Given the description of an element on the screen output the (x, y) to click on. 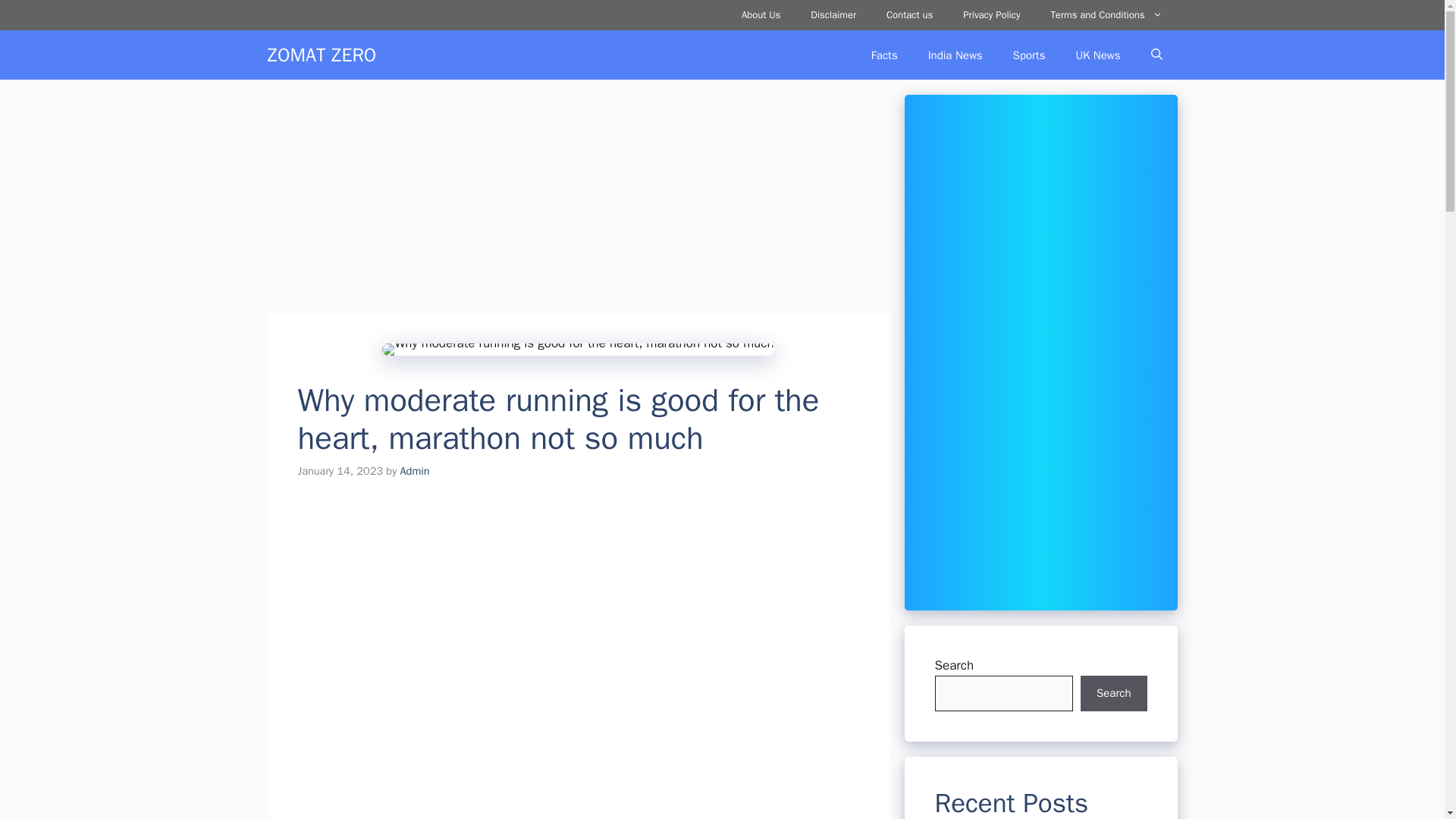
Disclaimer (832, 15)
Admin (414, 470)
View all posts by Admin (414, 470)
Facts (884, 53)
Sports (1029, 53)
UK News (1097, 53)
ZOMAT ZERO (320, 54)
Contact us (908, 15)
About Us (760, 15)
Terms and Conditions (1105, 15)
Advertisement (577, 612)
Privacy Policy (991, 15)
Advertisement (577, 201)
India News (954, 53)
Advertisement (577, 771)
